Given the description of an element on the screen output the (x, y) to click on. 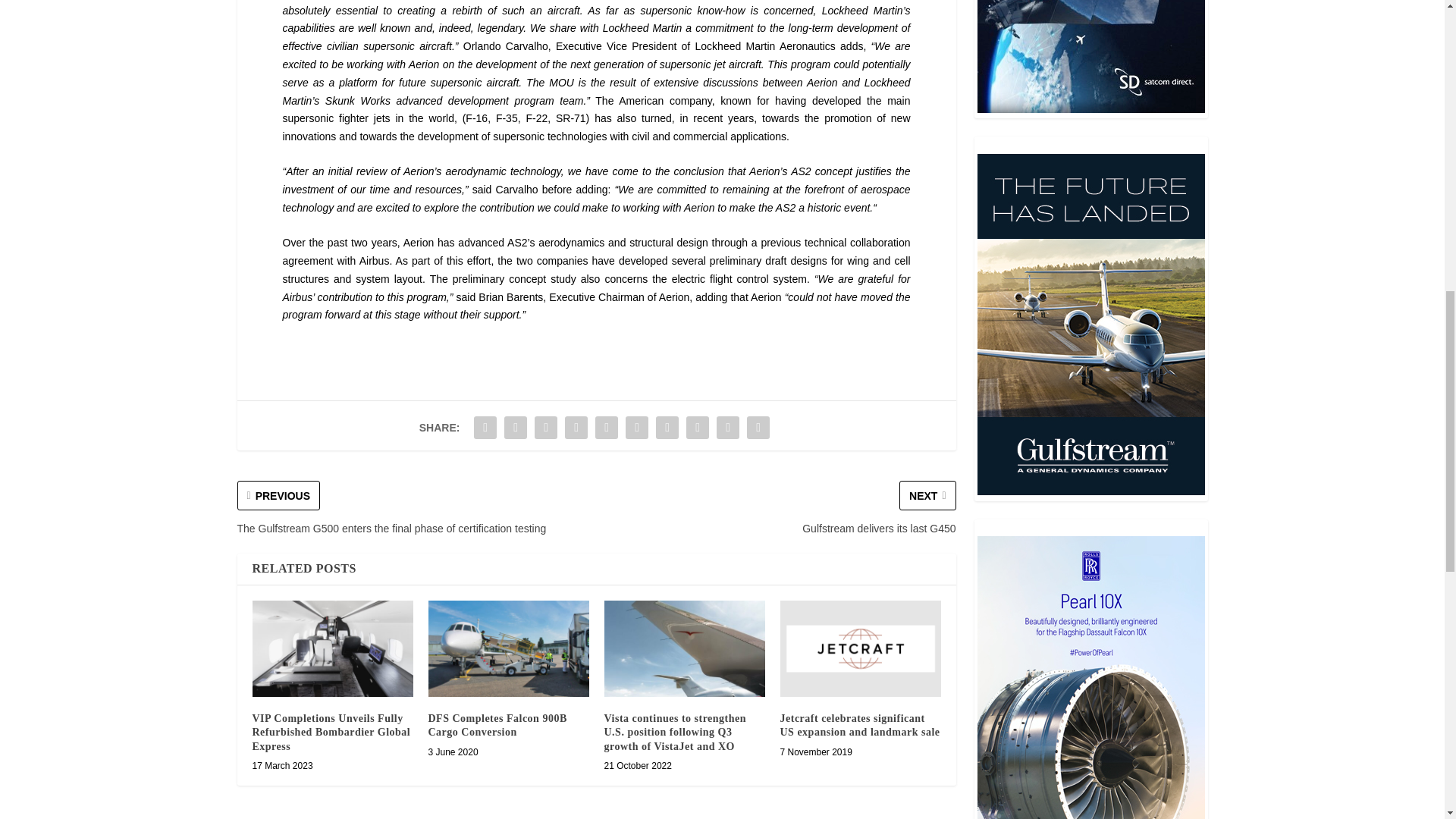
DFS Completes Falcon 900B Cargo Conversion (508, 648)
